Given the description of an element on the screen output the (x, y) to click on. 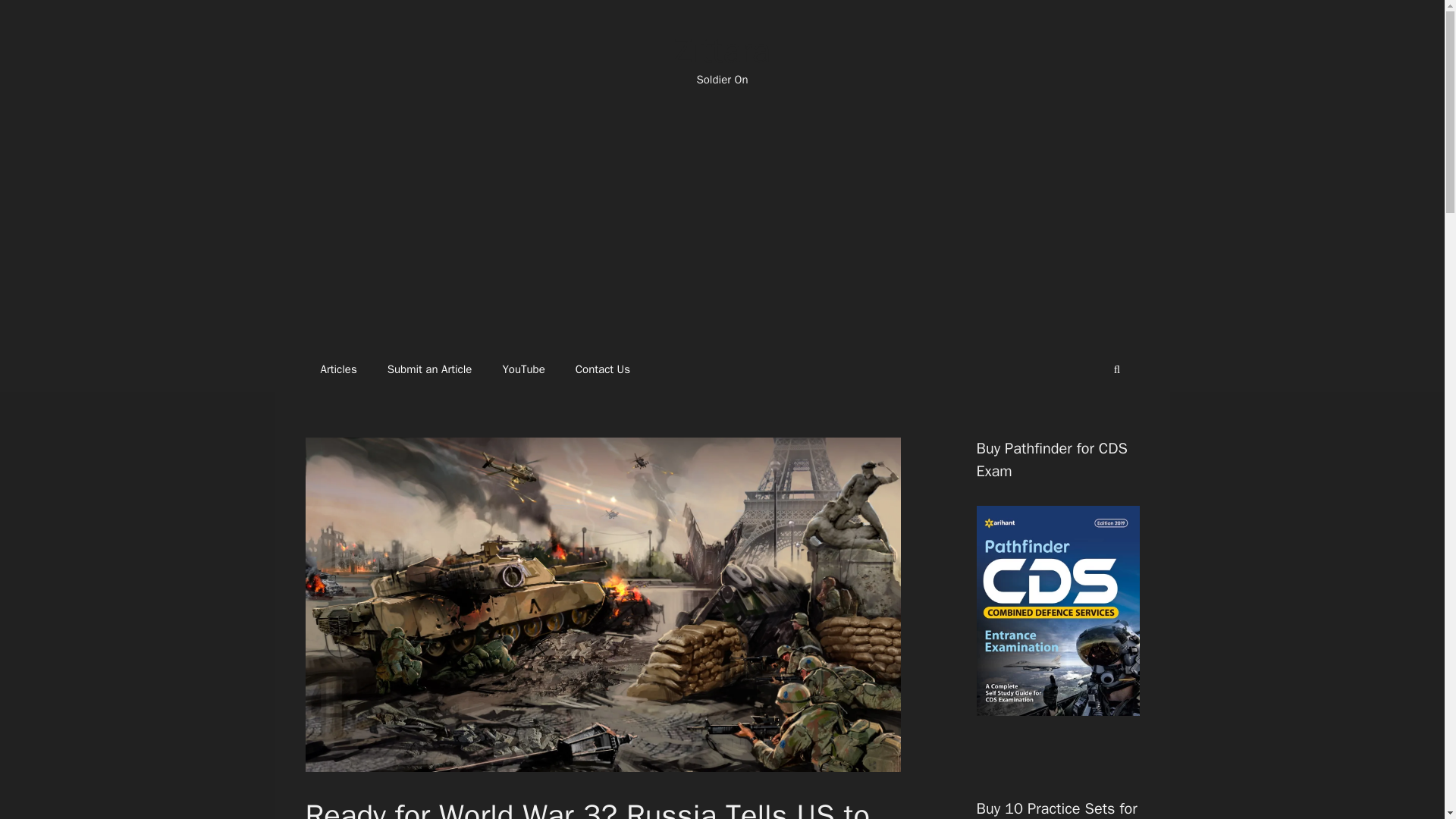
Submit an Article (429, 368)
YouTube (522, 368)
Contact Us (602, 368)
Articles (337, 368)
Zittara (722, 50)
